Given the description of an element on the screen output the (x, y) to click on. 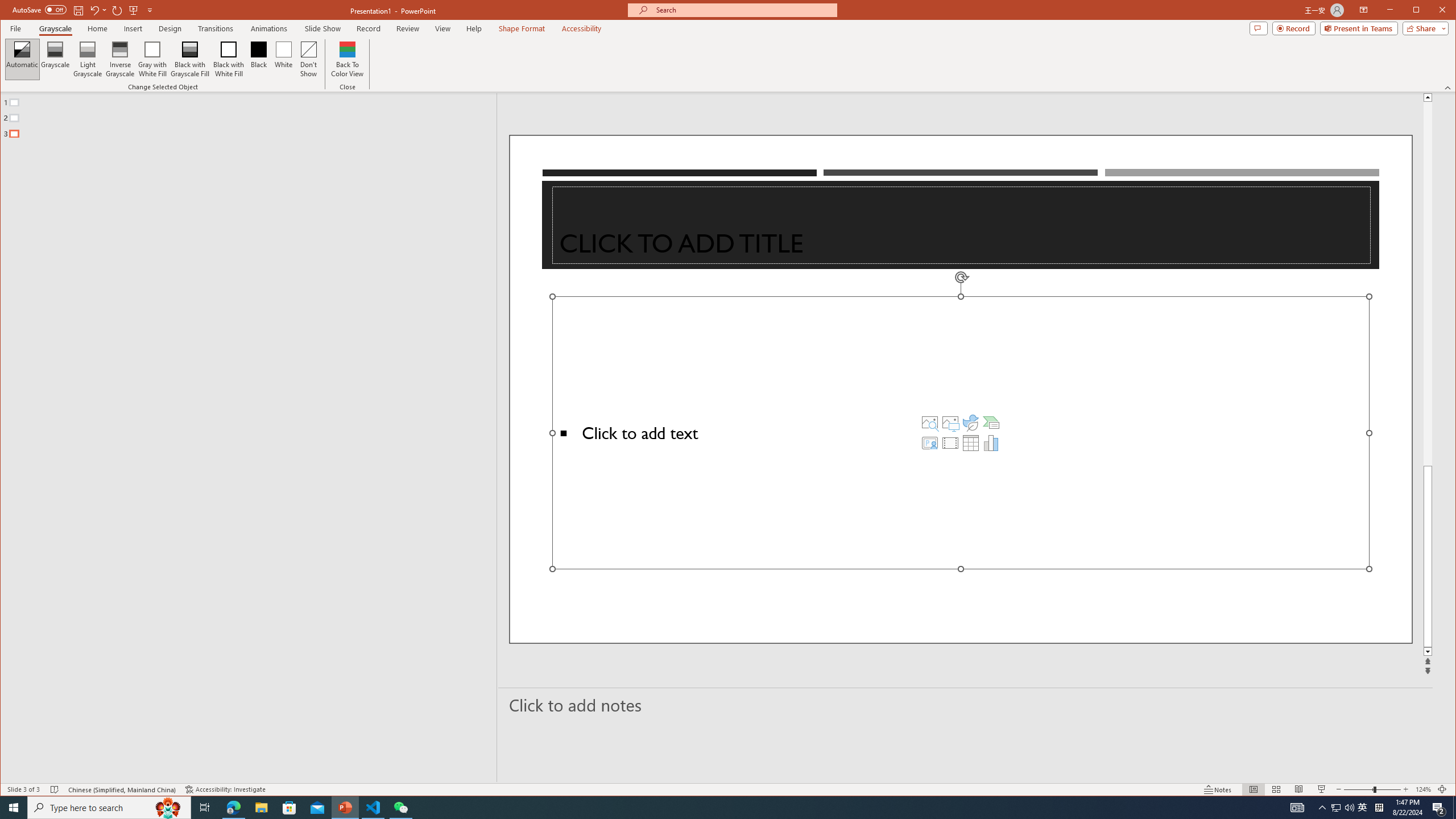
Insert Cameo (929, 443)
Light Grayscale (87, 59)
Automatic (22, 59)
Stock Images (929, 422)
Insert an Icon (970, 422)
White (283, 59)
